Given the description of an element on the screen output the (x, y) to click on. 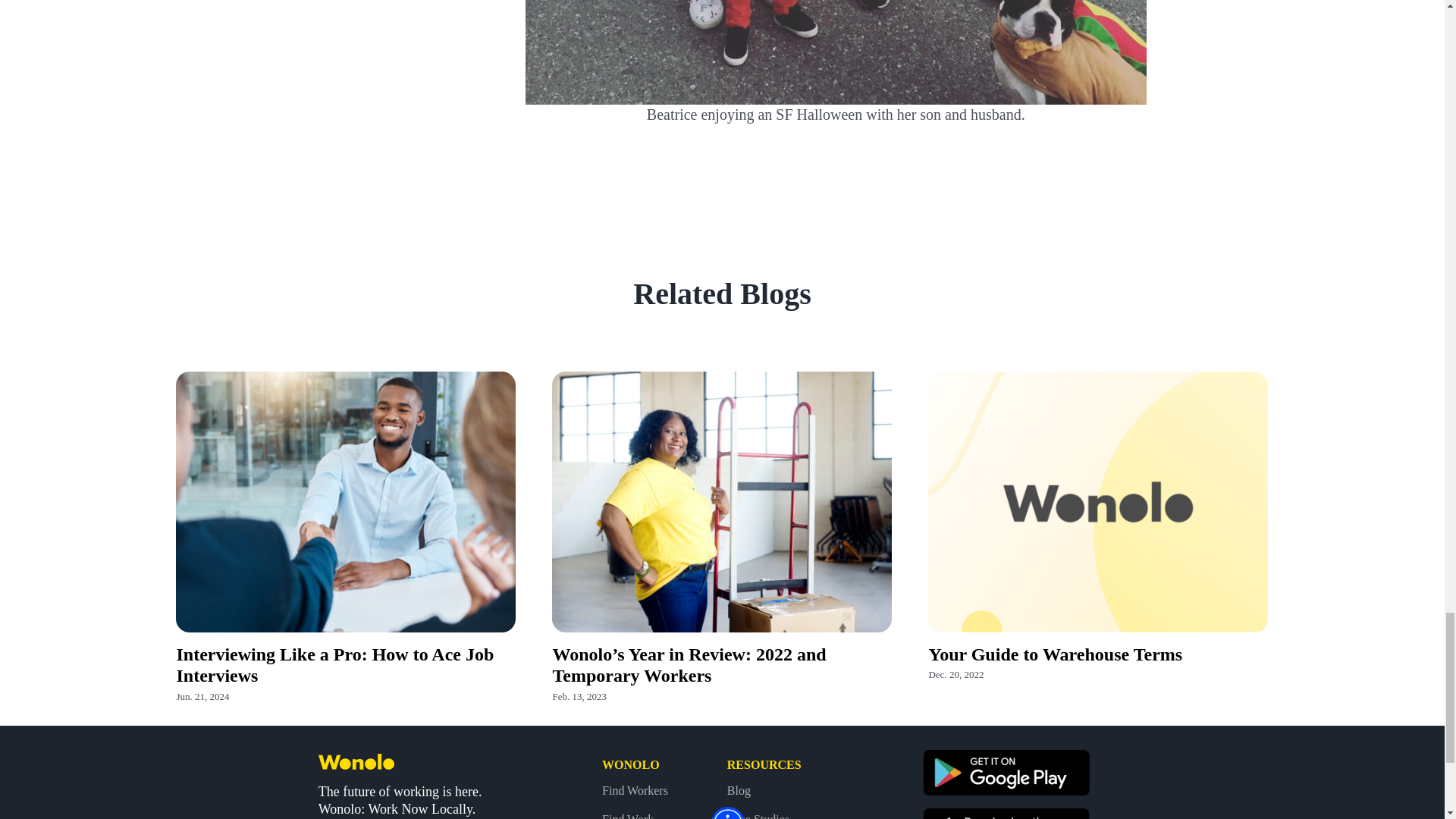
Interviewing Like a Pro: How to Ace Job Interviews (334, 665)
Your Guide to Warehouse Terms (1055, 654)
